Given the description of an element on the screen output the (x, y) to click on. 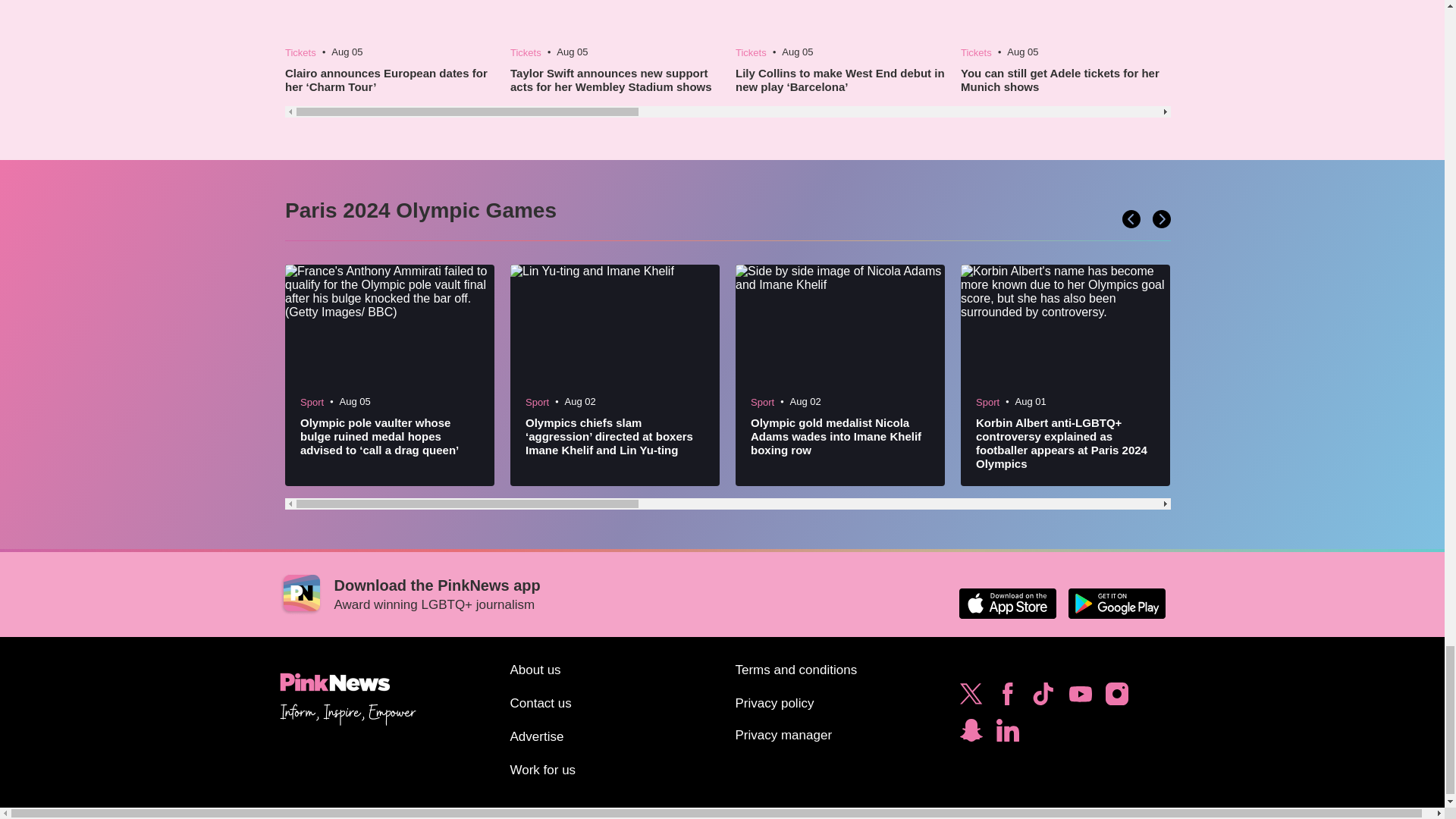
Follow PinkNews on Instagram (1116, 697)
Follow PinkNews on LinkedIn (1007, 733)
Follow PinkNews on TikTok (1042, 697)
Download the PinkNews app on the Apple App Store (1006, 603)
Follow PinkNews on Twitter (970, 697)
Subscribe to PinkNews on YouTube (1079, 697)
Download the PinkNews app on Google Play (1115, 603)
Subscribe to PinkNews on Snapchat (970, 733)
